Given the description of an element on the screen output the (x, y) to click on. 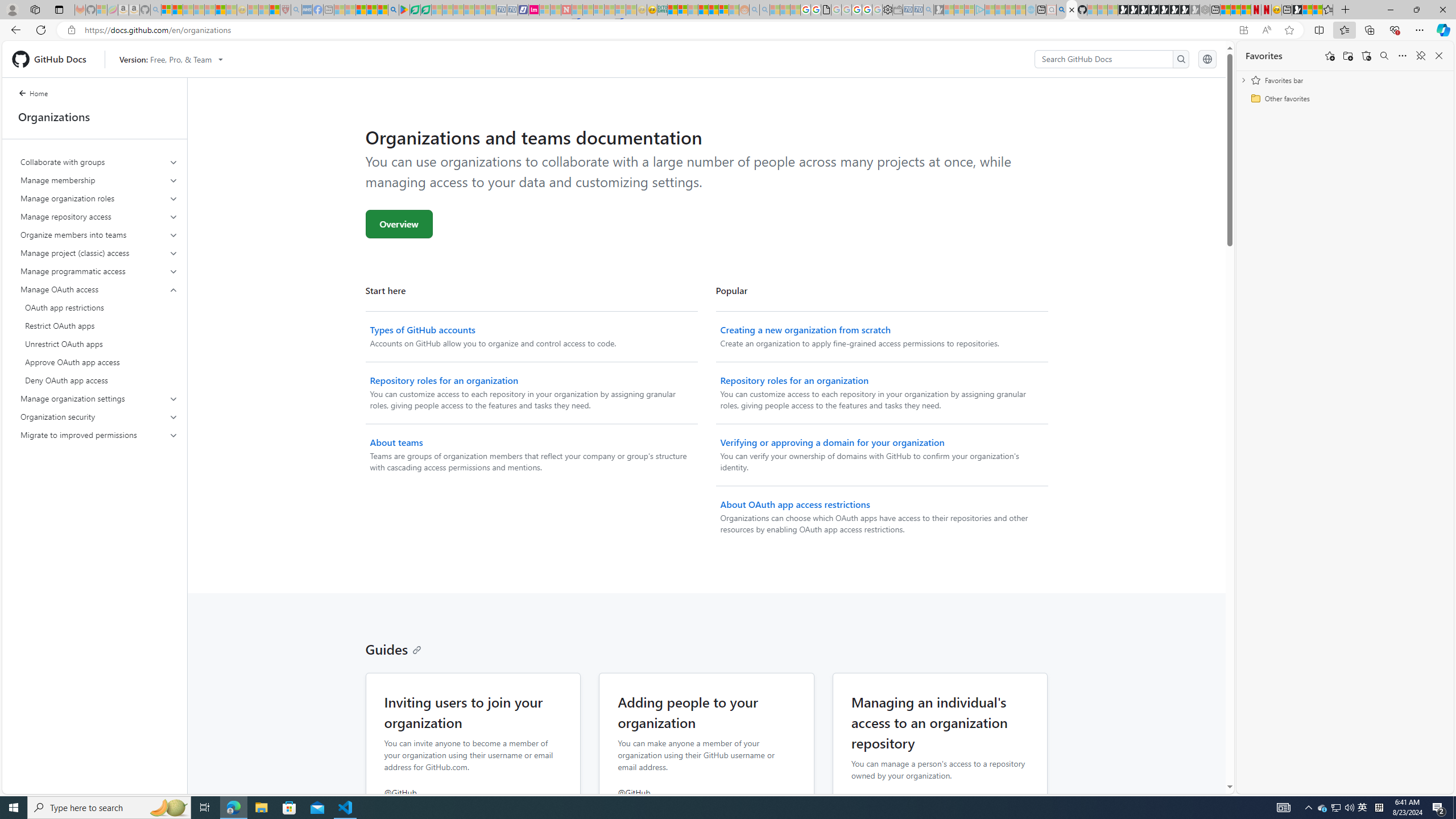
Restore deleted favorites (1366, 55)
Expert Portfolios (703, 9)
The Weather Channel - MSN - Sleeping (187, 9)
Organize members into teams (99, 235)
Manage programmatic access (99, 271)
